Given the description of an element on the screen output the (x, y) to click on. 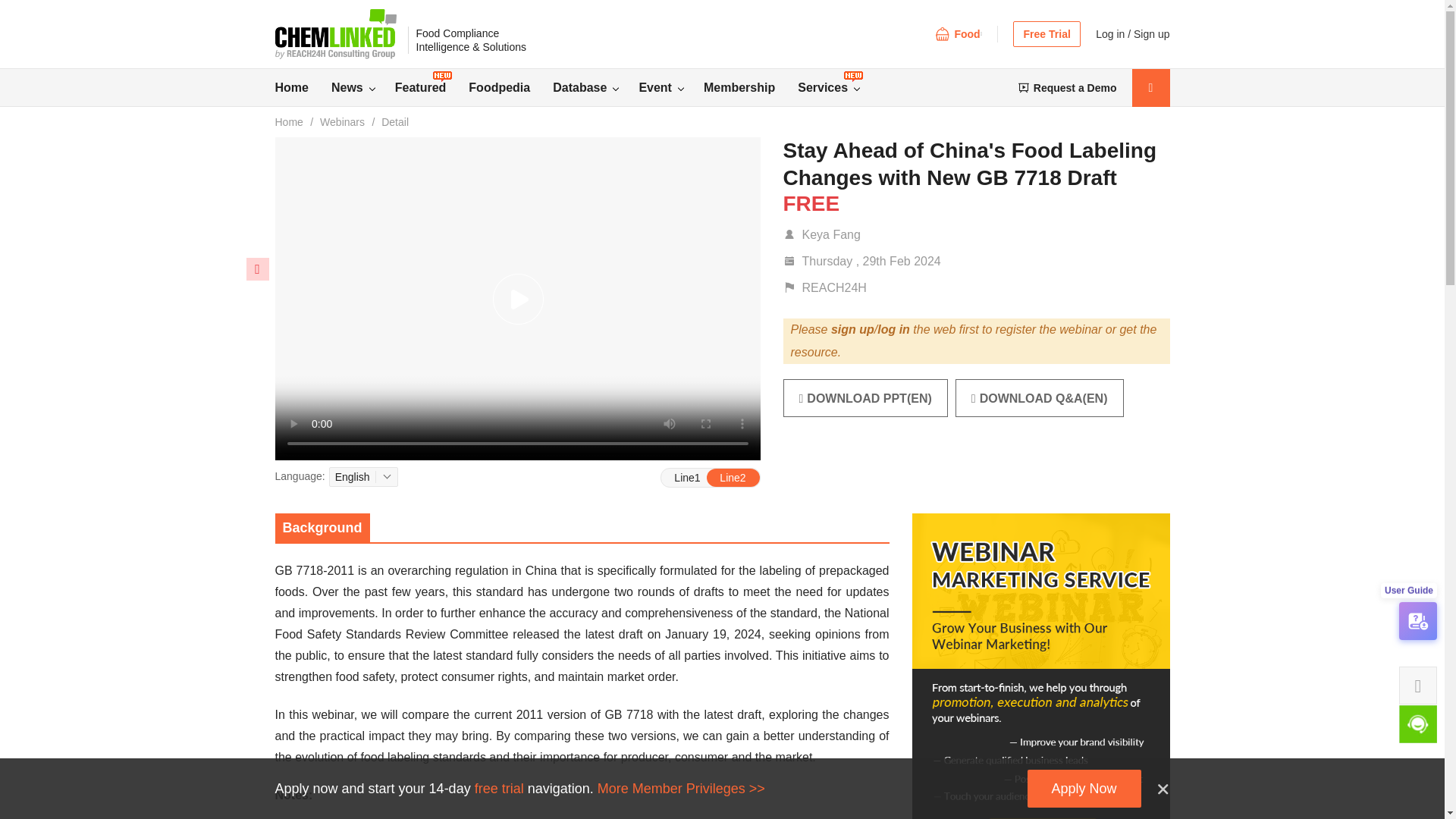
Food (957, 33)
User Guide (1418, 620)
Free Trial (1046, 33)
Home (302, 87)
Database (596, 87)
Membership (750, 87)
Request a Demo (1067, 87)
Featured (431, 87)
Event (671, 87)
